Given the description of an element on the screen output the (x, y) to click on. 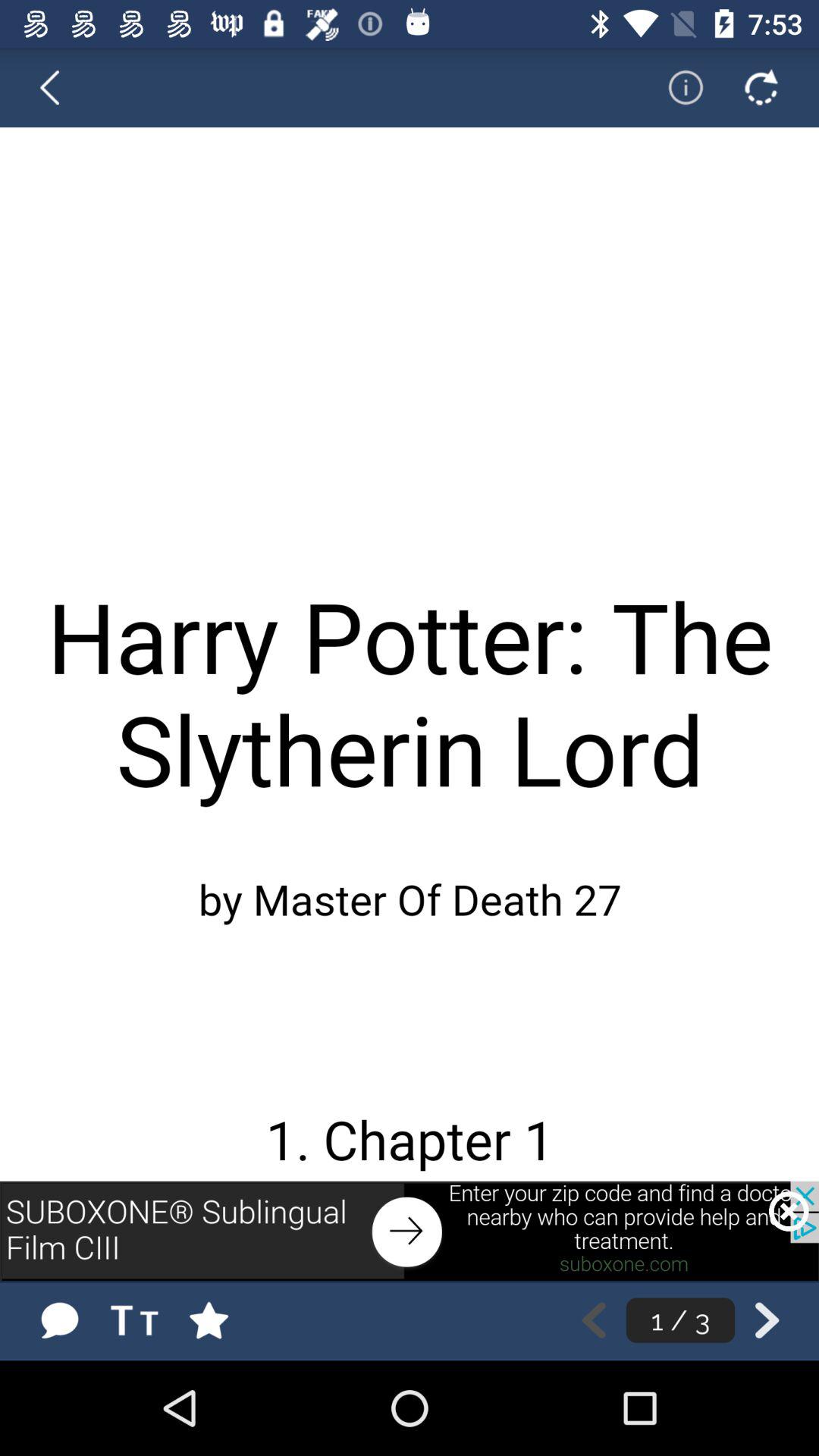
view messages (59, 1320)
